Given the description of an element on the screen output the (x, y) to click on. 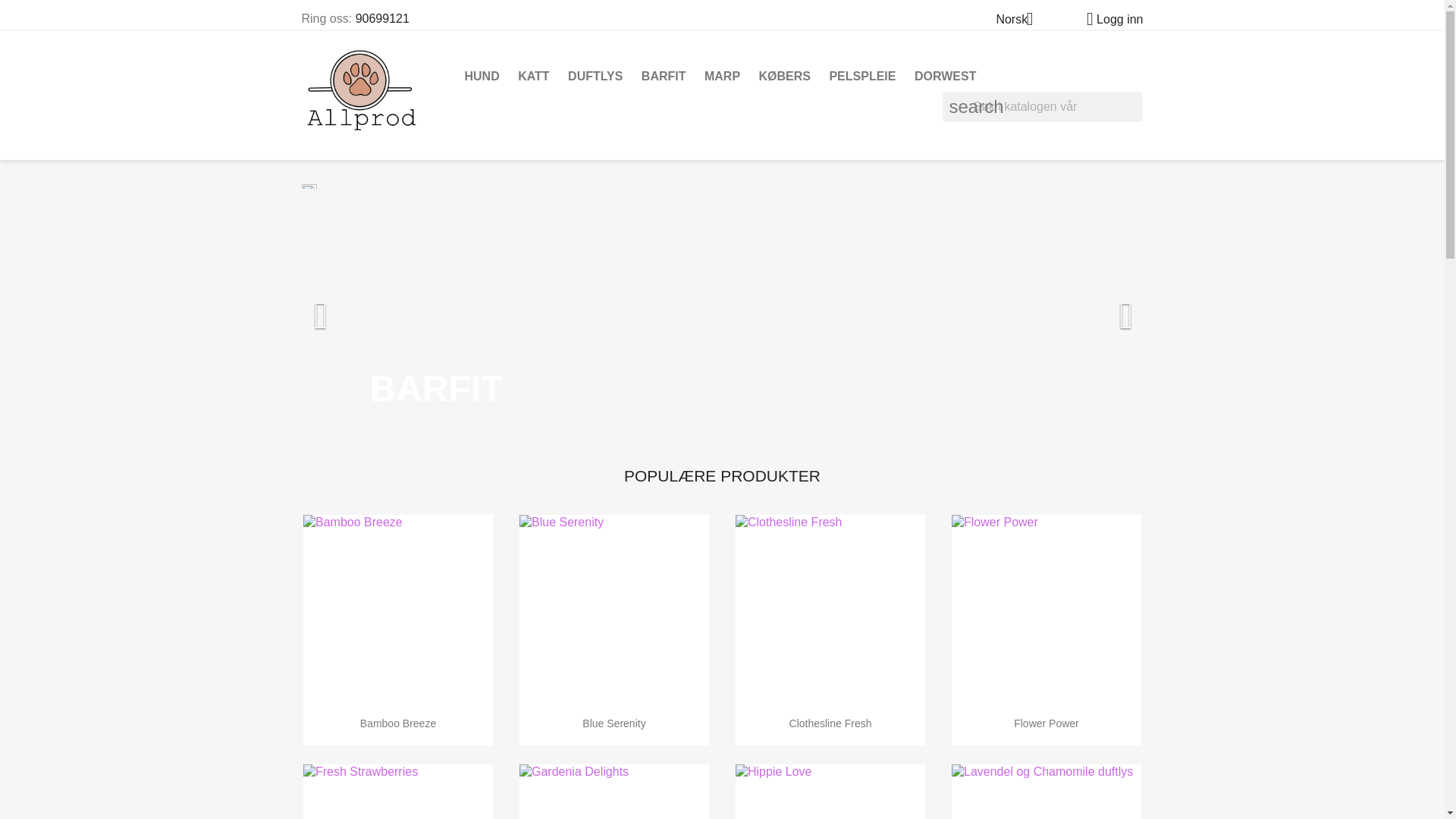
90699121 (382, 18)
KATT (533, 76)
Logg inn med din kundekonto (1108, 19)
HUND (481, 76)
DUFTLYS (595, 76)
BARFIT (663, 76)
MARP (722, 76)
